Given the description of an element on the screen output the (x, y) to click on. 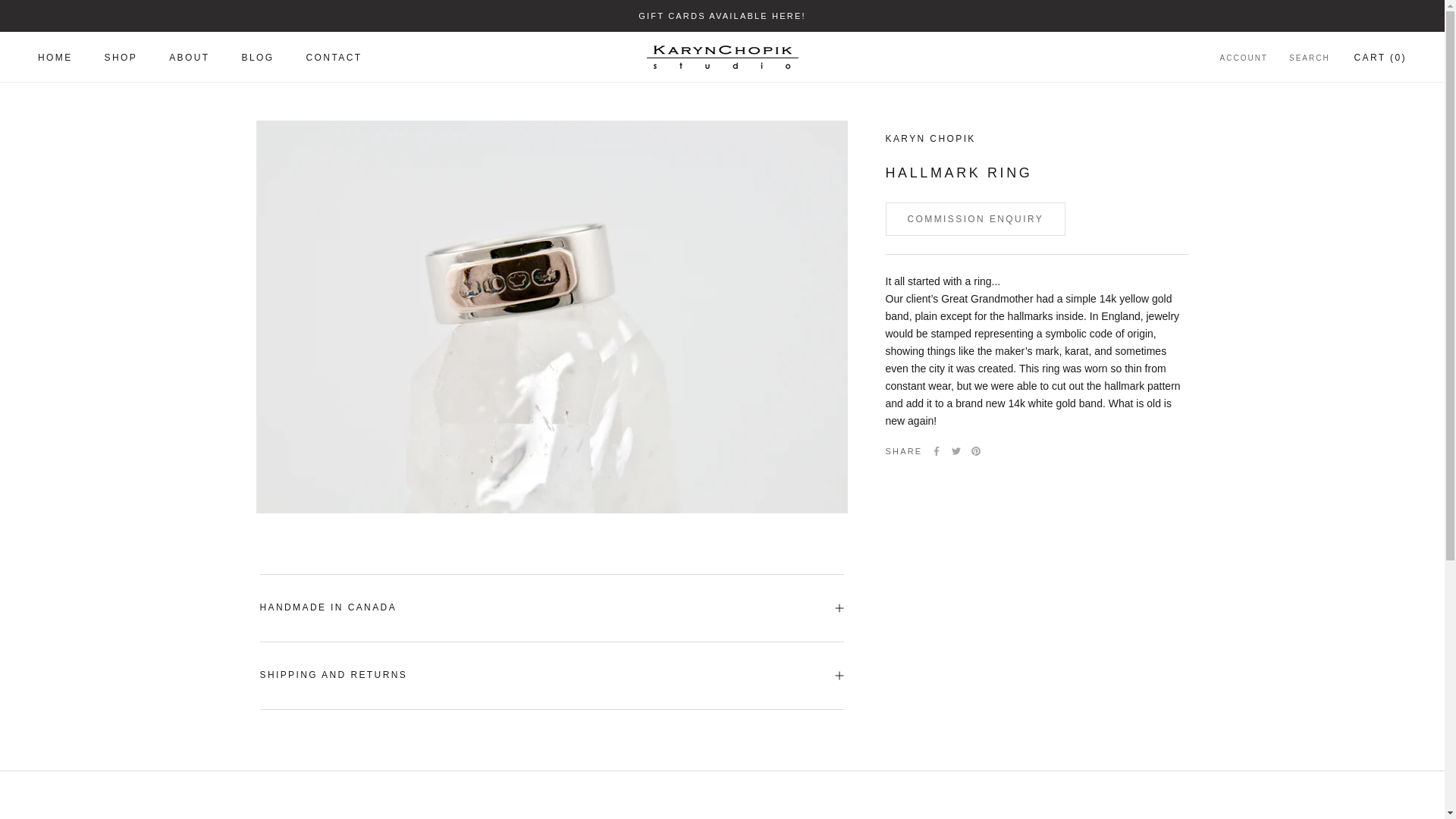
GIFT CARDS AVAILABLE HERE! (121, 57)
